Given the description of an element on the screen output the (x, y) to click on. 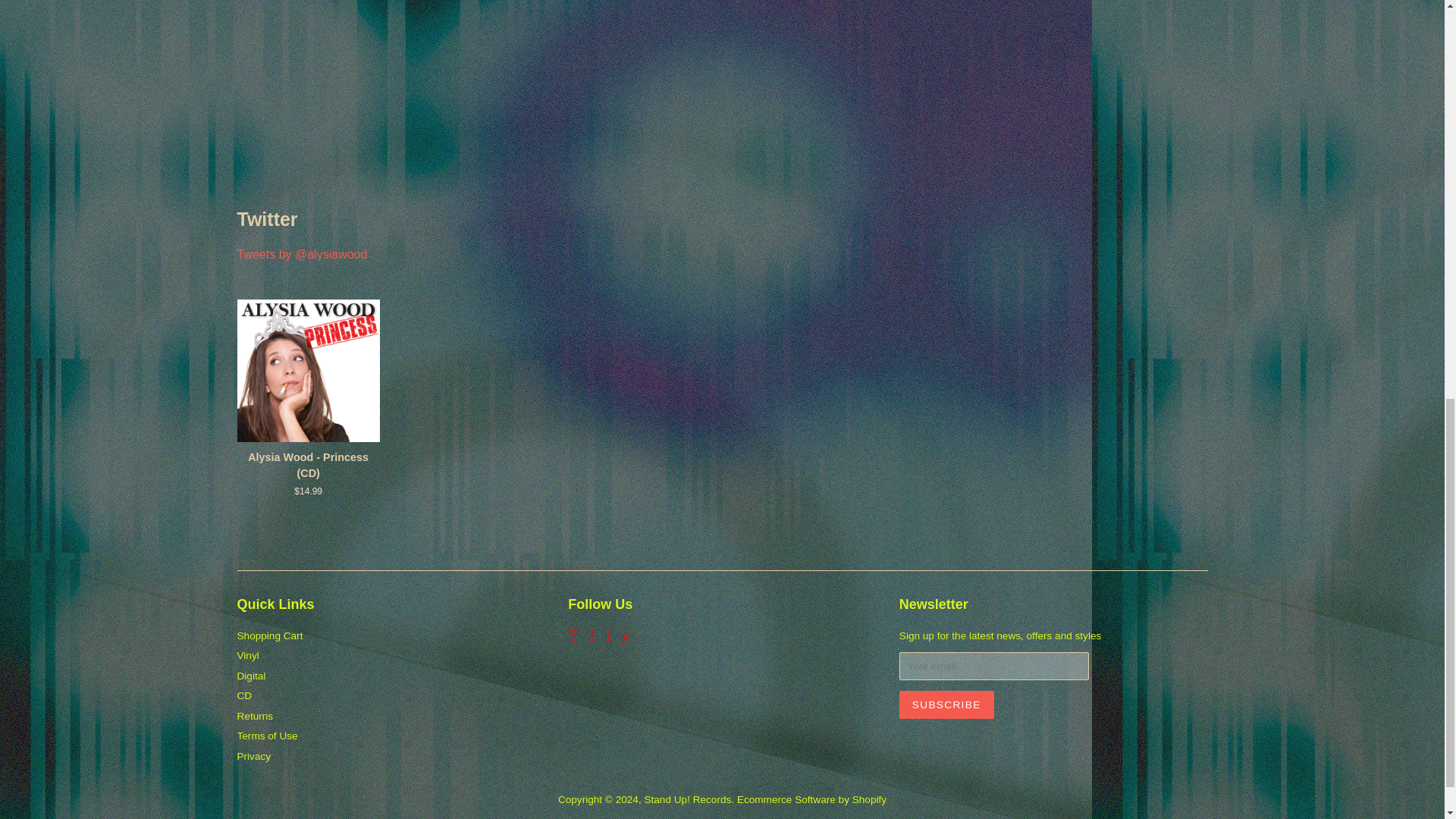
Stand Up! Records on Instagram (607, 636)
Stand Up! Records on YouTube (624, 636)
Stand Up! Records on Facebook (591, 636)
Subscribe (946, 705)
Stand Up! Records on Twitter (572, 636)
